Given the description of an element on the screen output the (x, y) to click on. 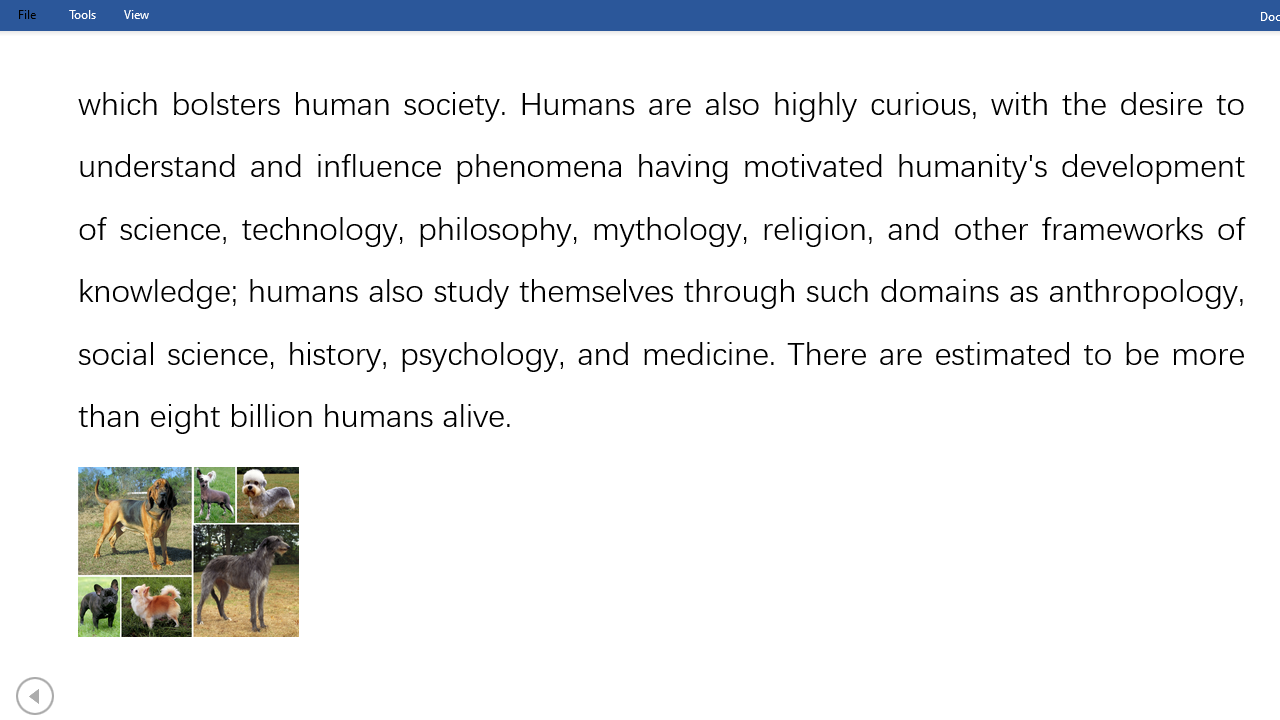
File Tab (26, 14)
Tools (82, 14)
View (136, 14)
Morphological variation in six dogs (188, 552)
